Given the description of an element on the screen output the (x, y) to click on. 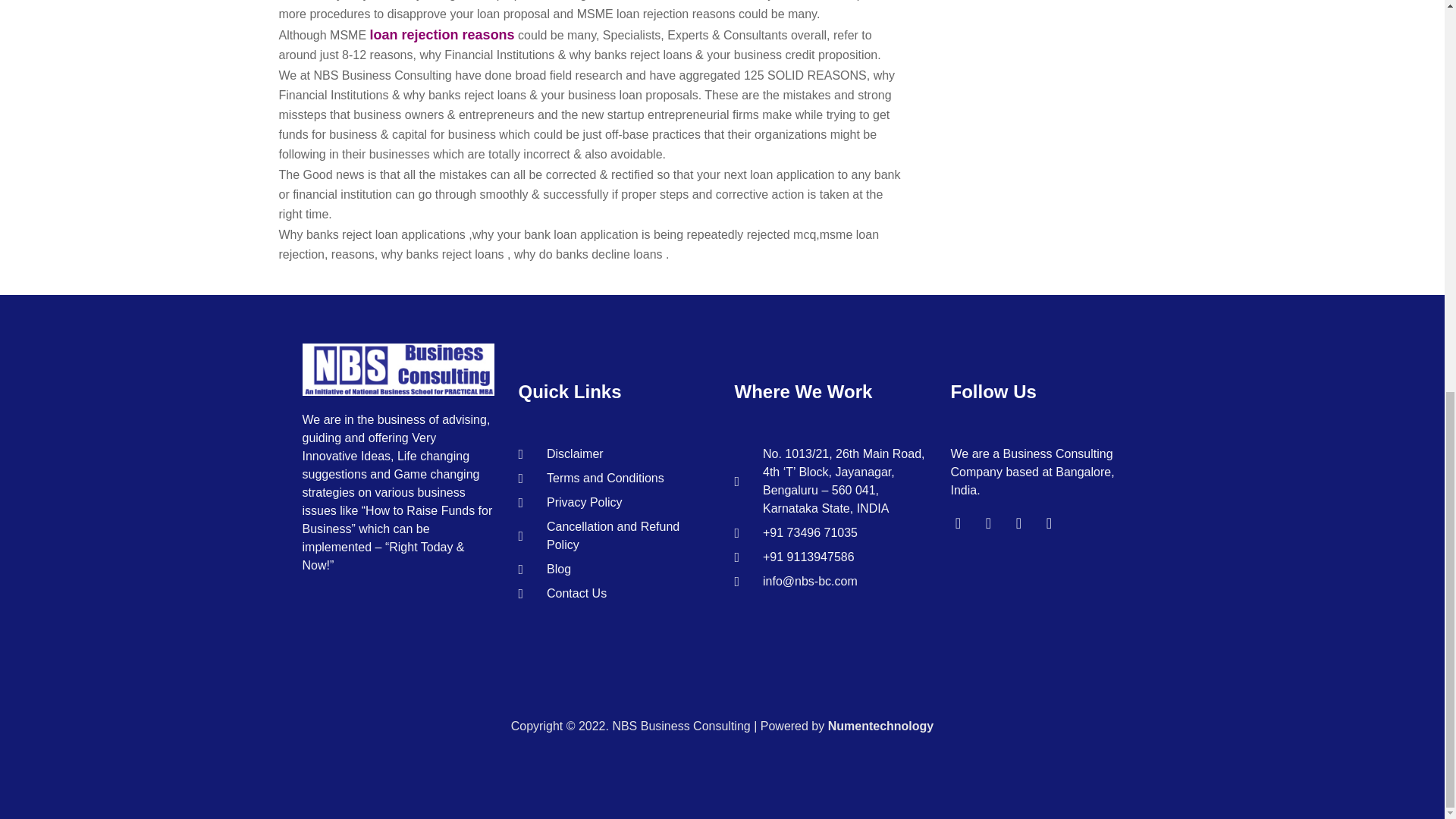
Terms and Conditions (614, 478)
Privacy Policy (614, 502)
Disclaimer (614, 454)
loan rejection reasons (442, 34)
Cancellation and Refund Policy (614, 535)
Blog (614, 569)
Contact Us (614, 593)
